Given the description of an element on the screen output the (x, y) to click on. 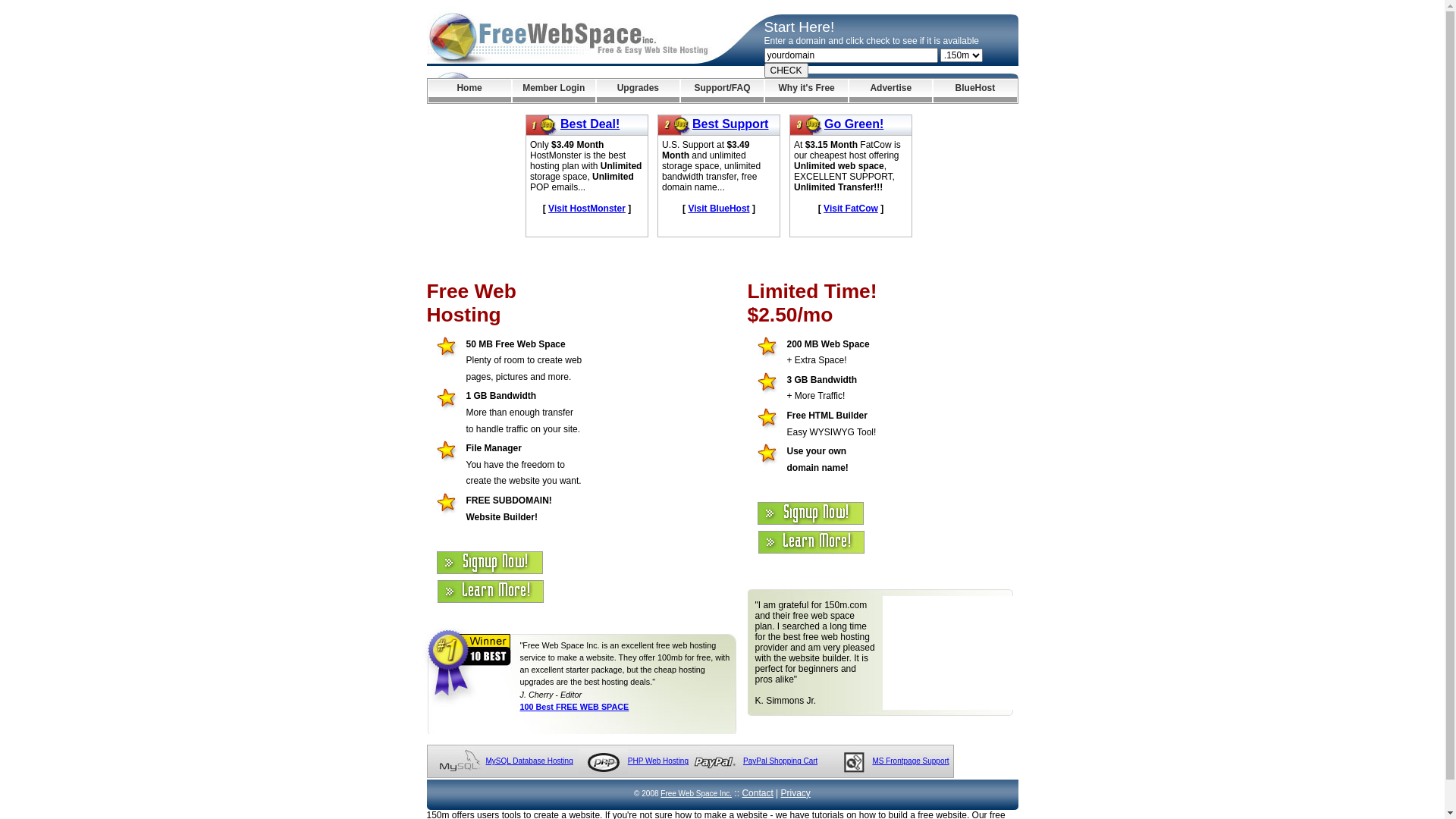
Upgrades Element type: text (637, 90)
Contact Element type: text (756, 792)
Free Web Space Inc. Element type: text (695, 793)
MS Frontpage Support Element type: text (910, 760)
Why it's Free Element type: text (806, 90)
Home Element type: text (468, 90)
Member Login Element type: text (553, 90)
Privacy Element type: text (795, 792)
CHECK Element type: text (786, 70)
100 Best FREE WEB SPACE Element type: text (574, 706)
Advertise Element type: text (890, 90)
BlueHost Element type: text (974, 90)
PayPal Shopping Cart Element type: text (780, 760)
Support/FAQ Element type: text (721, 90)
MySQL Database Hosting Element type: text (528, 760)
PHP Web Hosting Element type: text (657, 760)
